Given the description of an element on the screen output the (x, y) to click on. 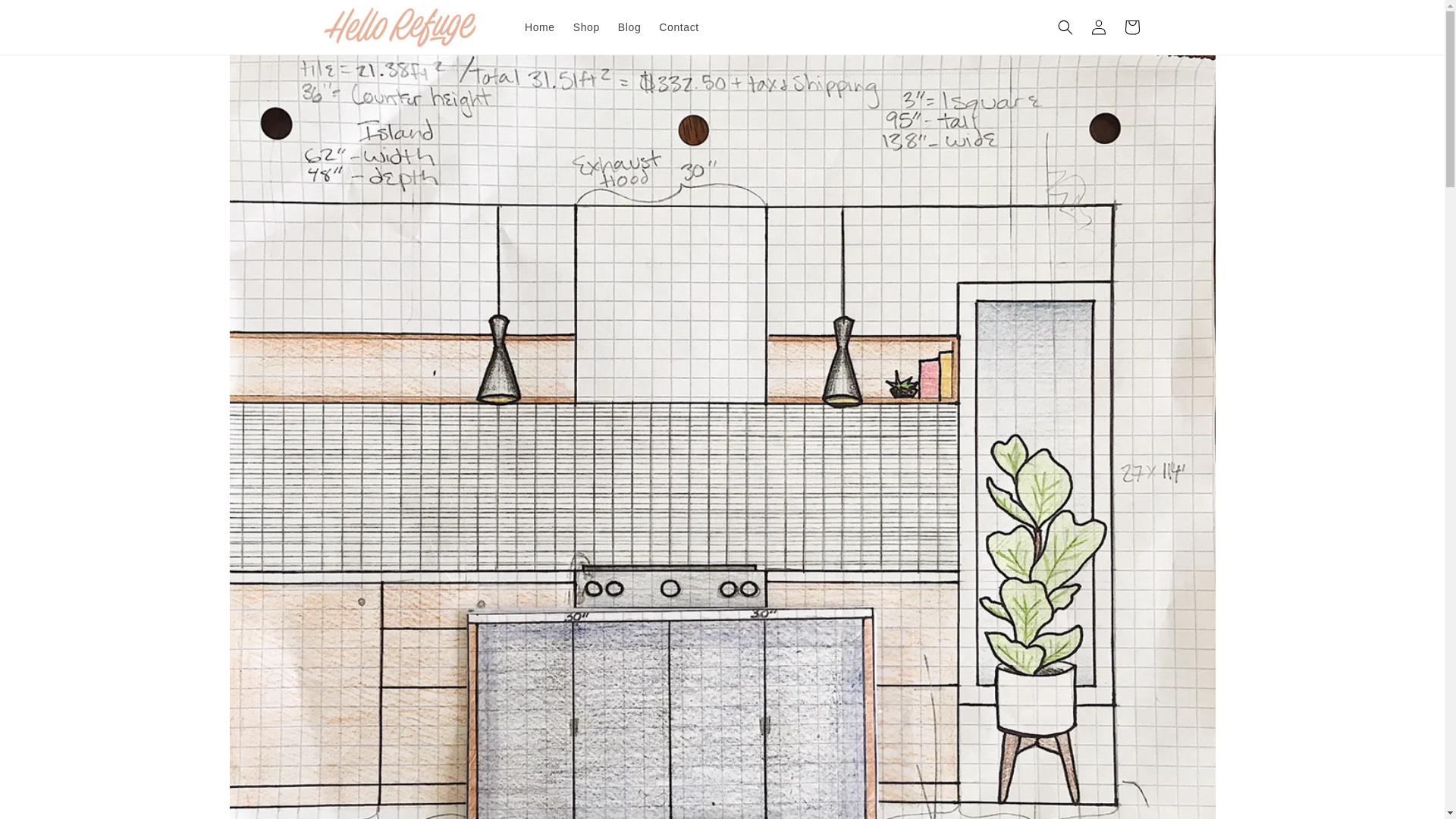
Blog (628, 27)
Cart (1131, 27)
Contact (678, 27)
Home (539, 27)
Shop (586, 27)
Skip to content (45, 17)
Log in (1098, 27)
